Given the description of an element on the screen output the (x, y) to click on. 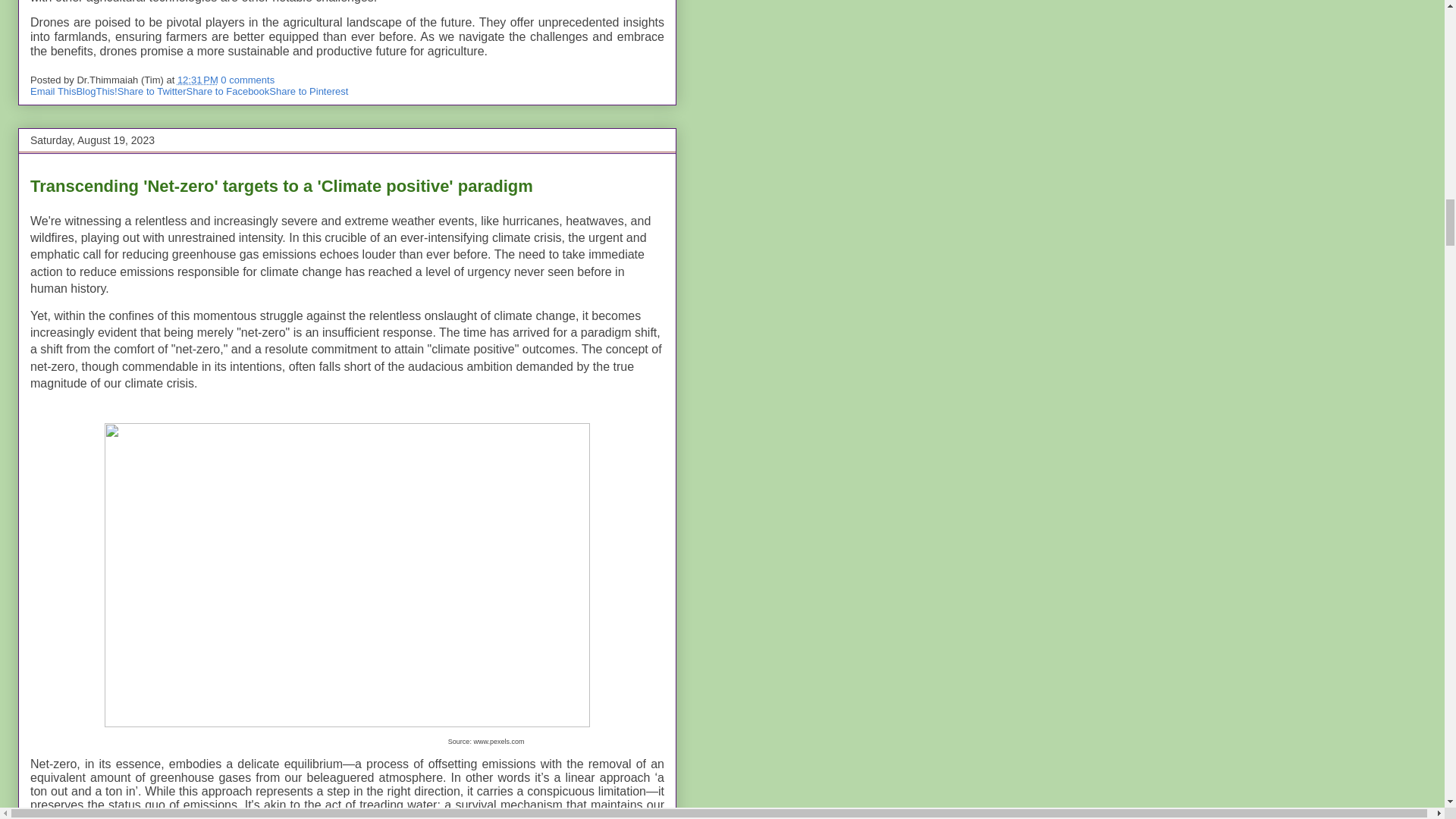
BlogThis! (95, 91)
Share to Twitter (151, 91)
Share to Facebook (227, 91)
permanent link (197, 79)
0 comments (248, 79)
Share to Pinterest (308, 91)
Email This (52, 91)
